Given the description of an element on the screen output the (x, y) to click on. 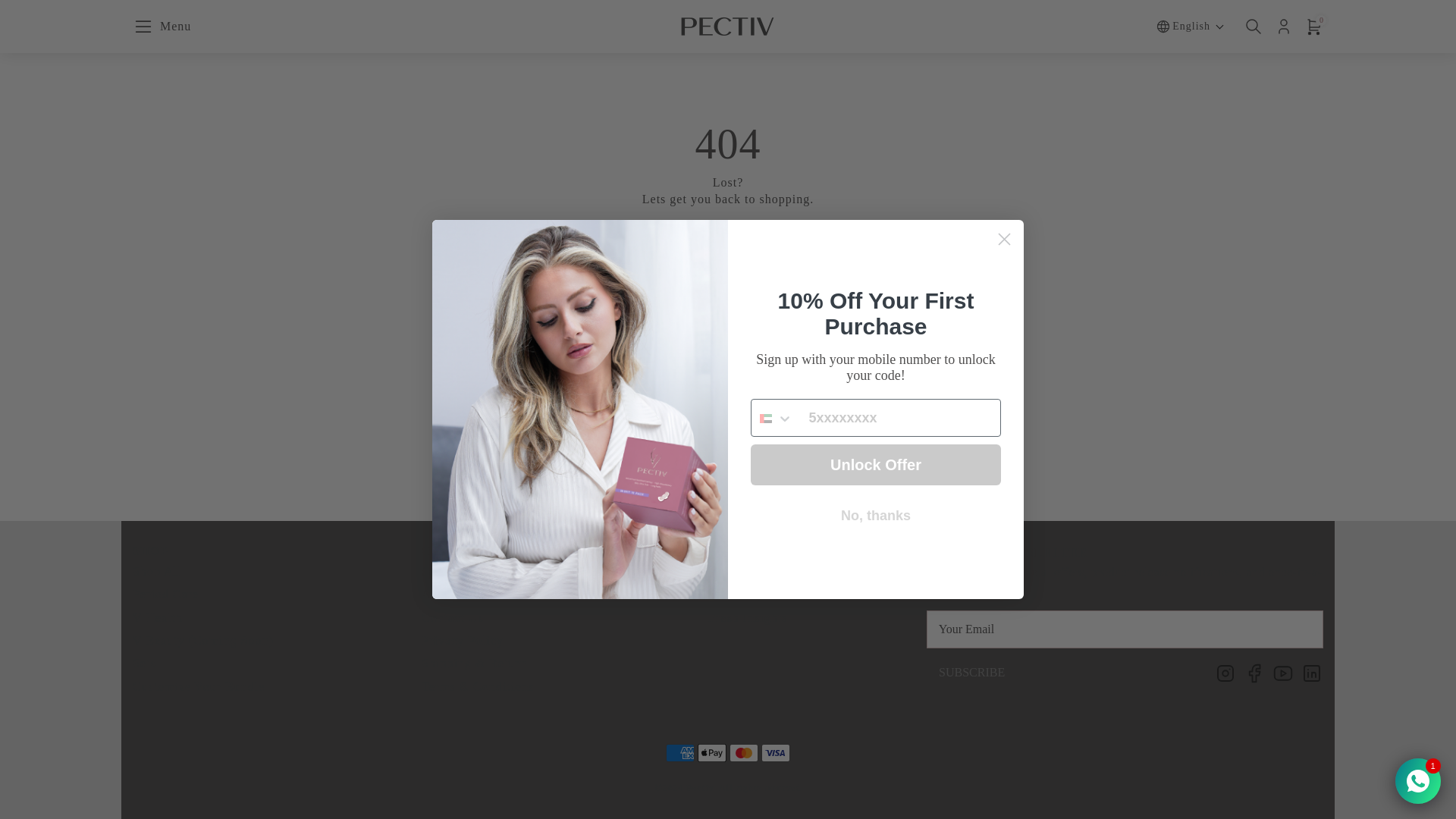
Sets (202, 663)
Close dialog 1 (1004, 239)
Our Story (727, 190)
Period Care (747, 594)
United Arab Emirates (202, 594)
Account (765, 418)
Close dialog 1 (491, 594)
Search (1004, 239)
Contact Us (491, 571)
SUBSCRIBE (491, 617)
Privacy Policy (971, 673)
Customize Your Bundle (491, 640)
FAQs (202, 686)
Shop All (747, 571)
